Given the description of an element on the screen output the (x, y) to click on. 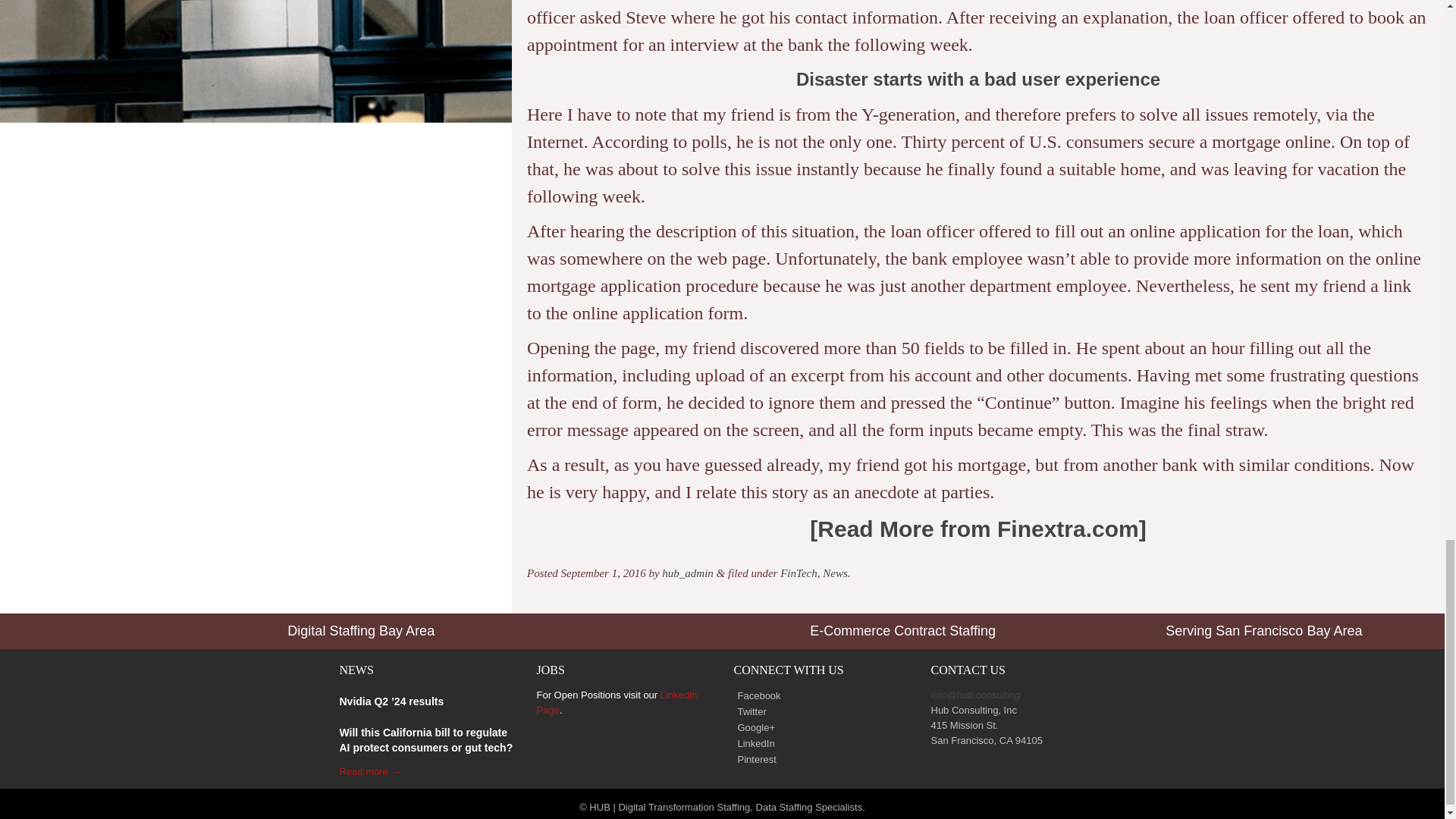
Read More from Finextra.com (977, 528)
News (834, 573)
Twitter (750, 711)
Linkedin Page (617, 702)
Pinterest (754, 759)
Facebook (756, 695)
FinTech (798, 573)
LinkedIn (753, 743)
